Given the description of an element on the screen output the (x, y) to click on. 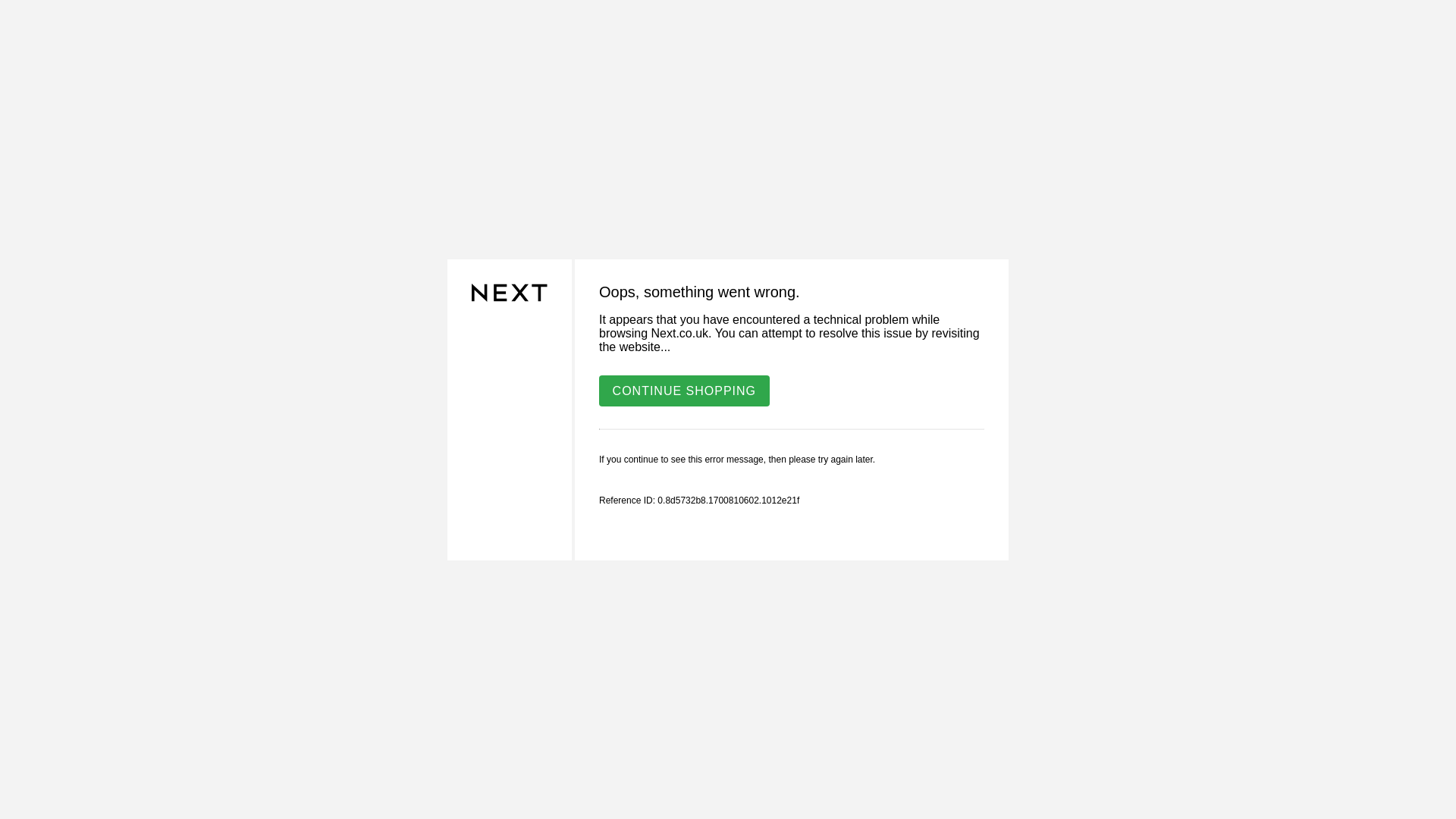
CONTINUE SHOPPING Element type: text (684, 389)
